Given the description of an element on the screen output the (x, y) to click on. 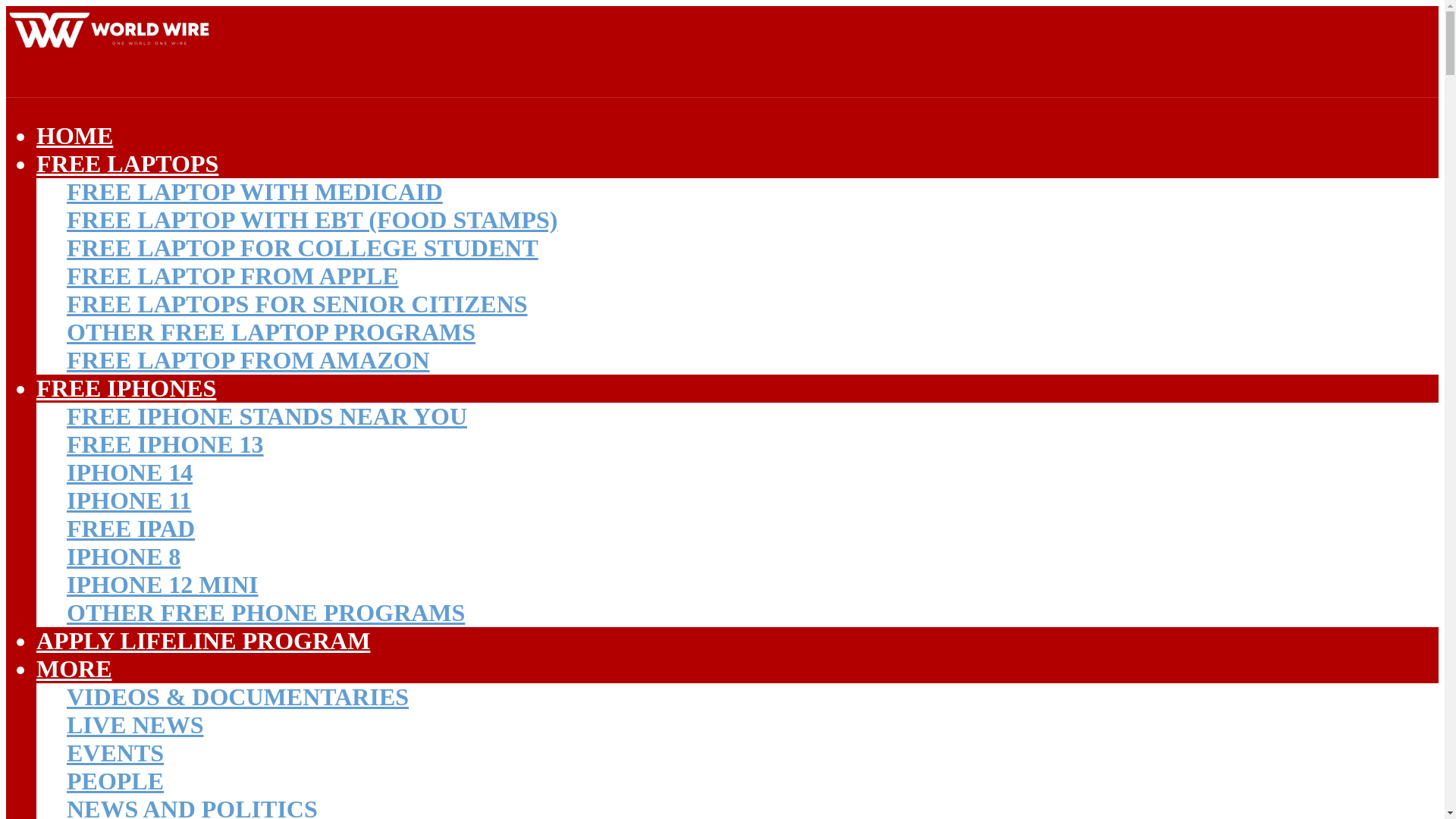
IPHONE 14 (129, 472)
IPHONE 8 (123, 556)
FREE IPHONES (125, 388)
PEOPLE (114, 780)
FREE LAPTOP FOR COLLEGE STUDENT (302, 247)
FREE LAPTOP FROM AMAZON (247, 359)
EVENTS (114, 752)
IPHONE 12 MINI (161, 584)
FREE LAPTOPS FOR SENIOR CITIZENS (296, 303)
FREE LAPTOPS (127, 163)
FREE IPHONE 13 (164, 443)
FREE IPHONE STANDS NEAR YOU (266, 415)
FREE LAPTOP WITH MEDICAID (254, 191)
MORE (74, 668)
NEWS AND POLITICS (191, 807)
